Given the description of an element on the screen output the (x, y) to click on. 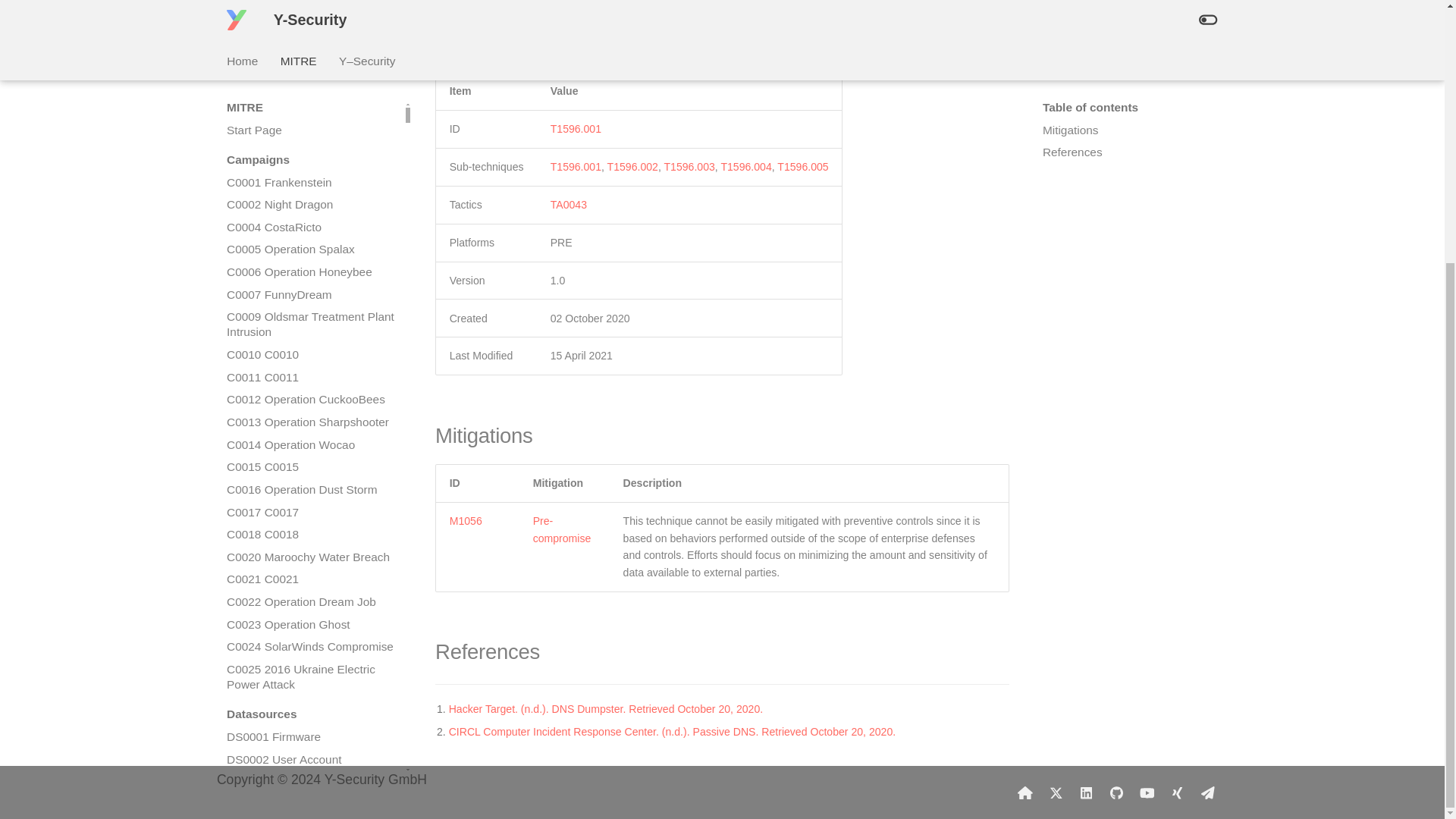
C0020 Maroochy Water Breach (310, 202)
www.linkedin.com (1086, 791)
C0017 C0017 (310, 158)
DS0009 Process (310, 562)
C0011 C0011 (310, 23)
DS0005 WMI (310, 472)
C0021 C0021 (310, 224)
C0024 SolarWinds Compromise (310, 292)
C0010 C0010 (310, 4)
C0014 Operation Wocao (310, 90)
